Given the description of an element on the screen output the (x, y) to click on. 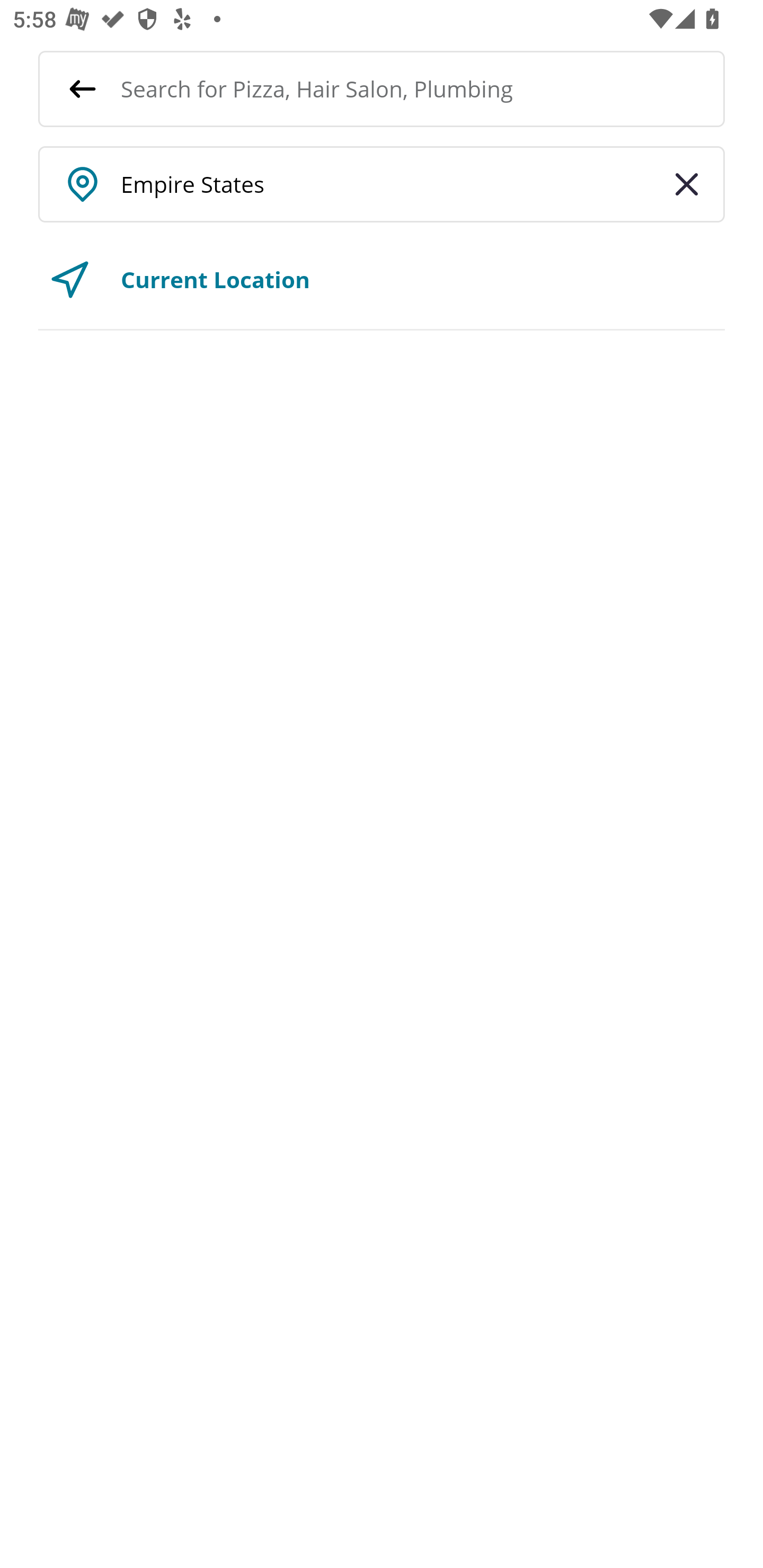
Search for Pizza, Hair Salon, Plumbing (422, 88)
